Given the description of an element on the screen output the (x, y) to click on. 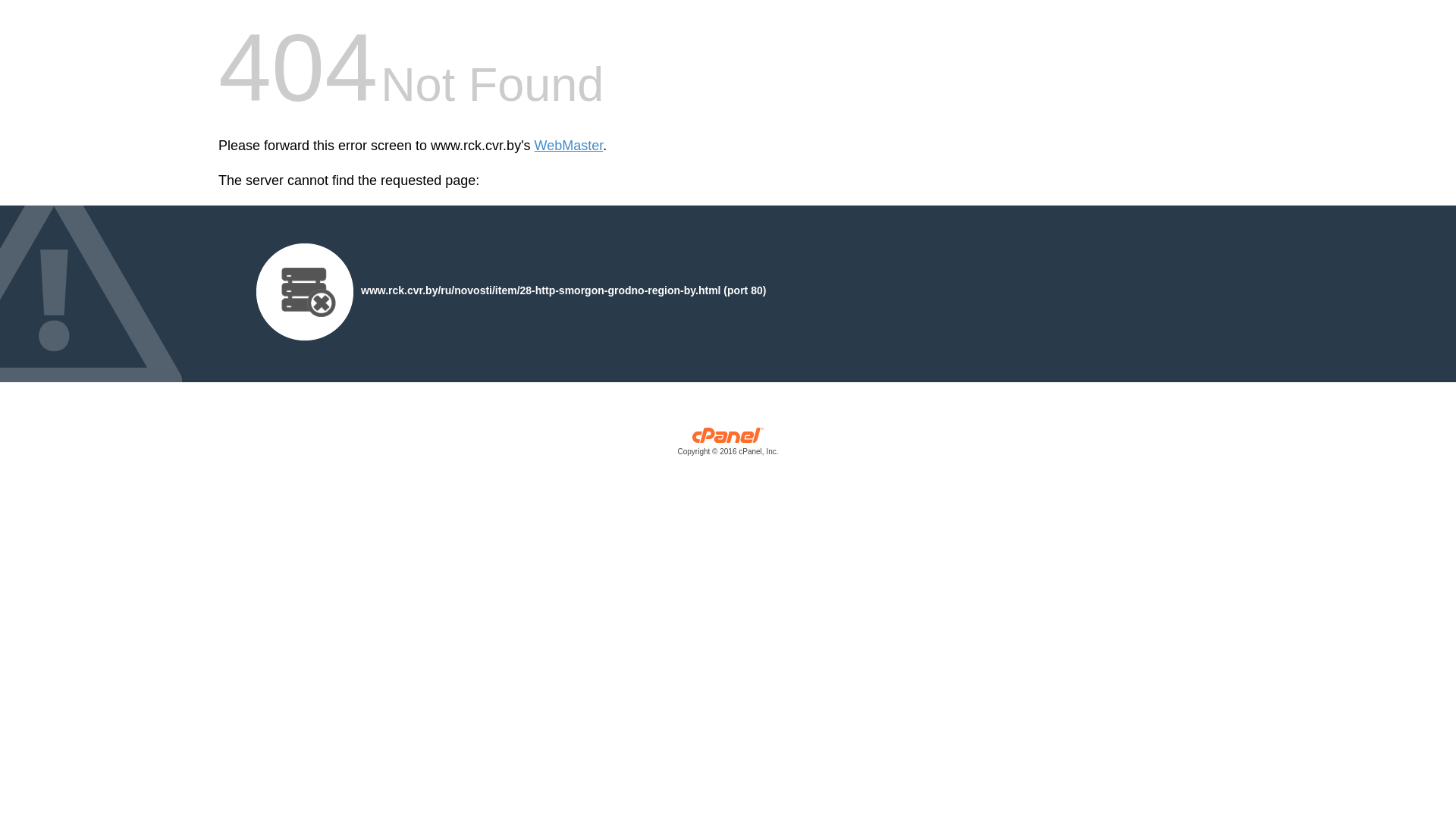
WebMaster Element type: text (568, 145)
